Given the description of an element on the screen output the (x, y) to click on. 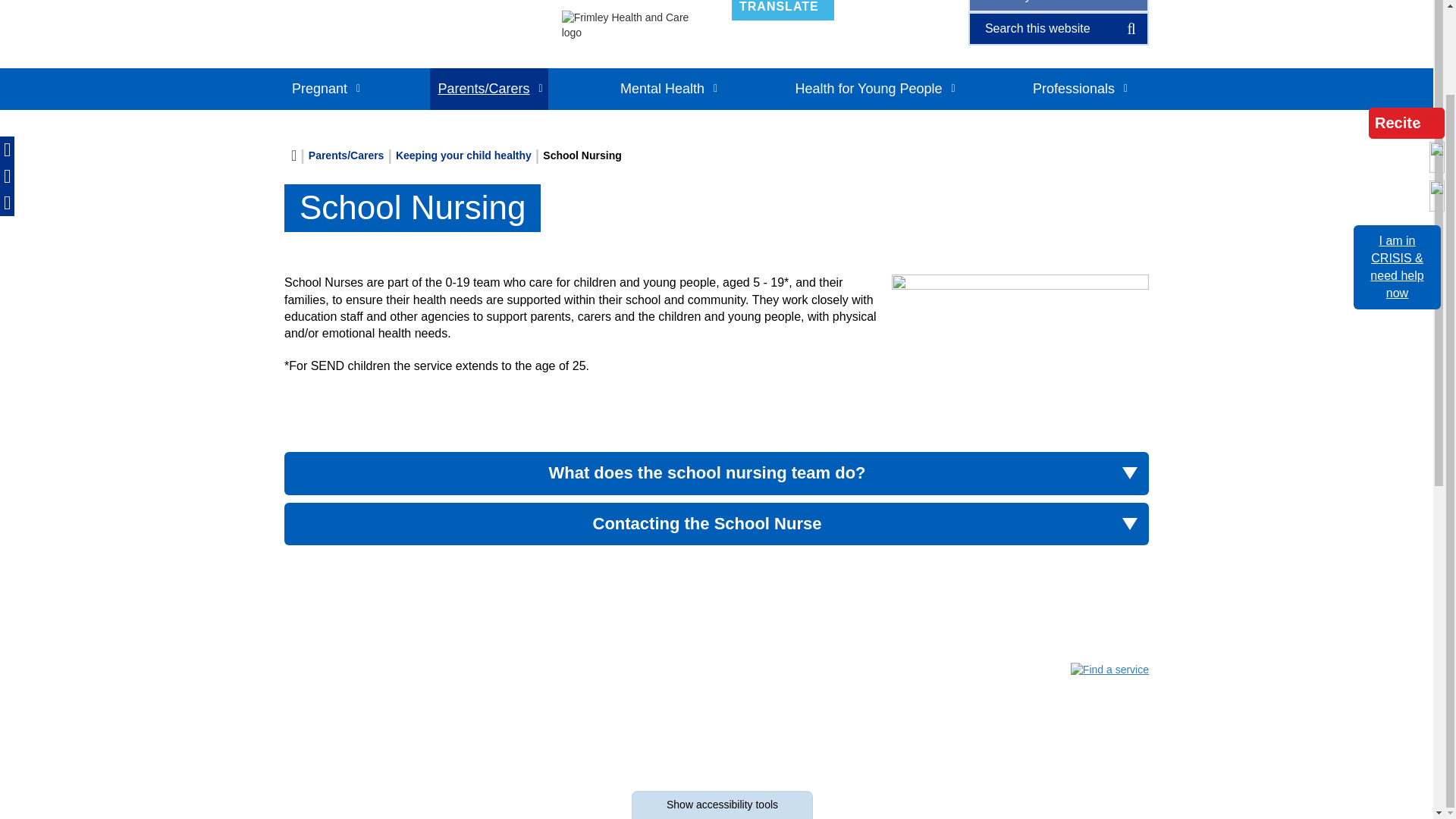
Homepage (410, 3)
Pregnant (783, 10)
Search (324, 88)
